Given the description of an element on the screen output the (x, y) to click on. 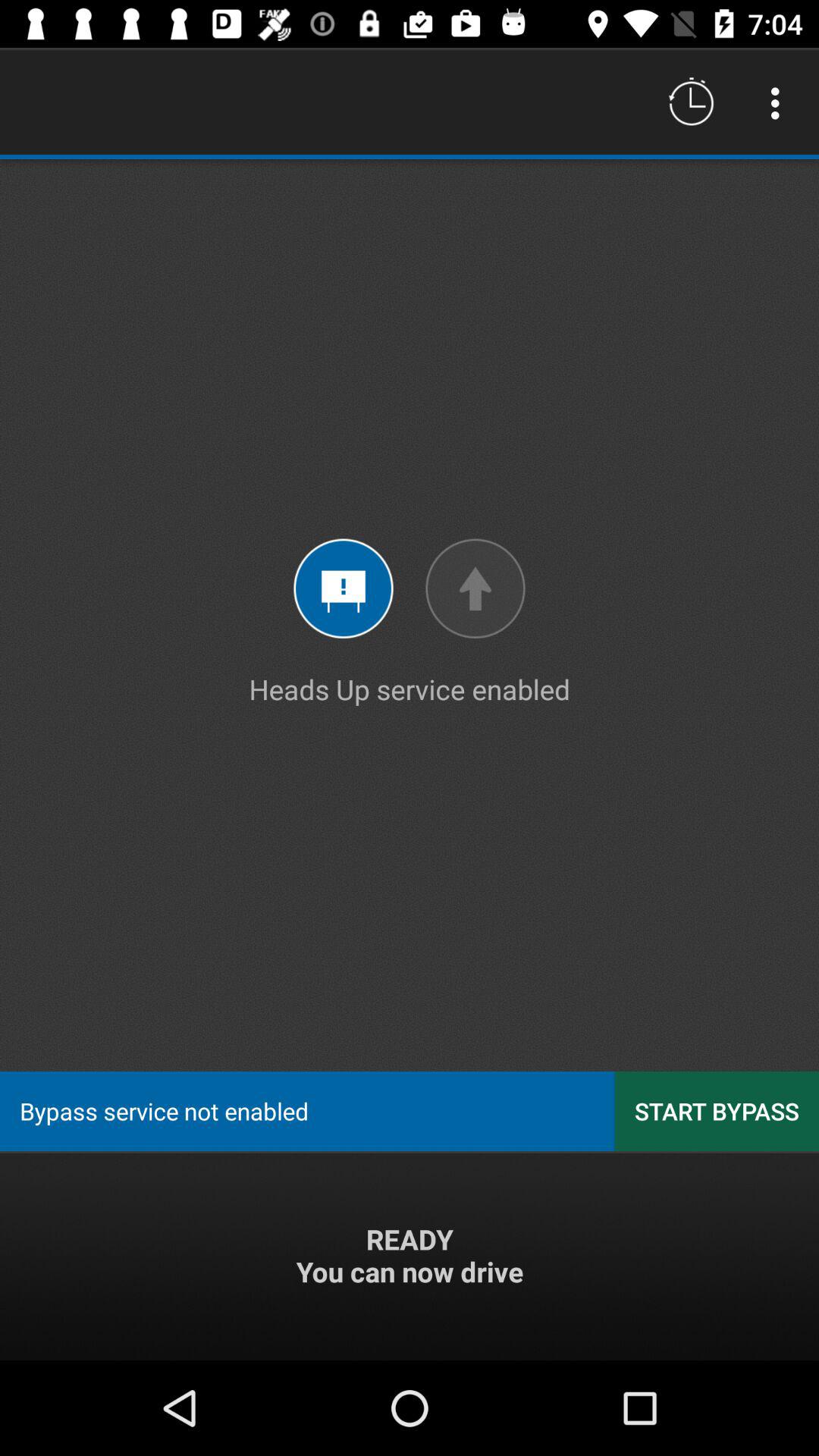
scroll to start bypass item (716, 1111)
